Given the description of an element on the screen output the (x, y) to click on. 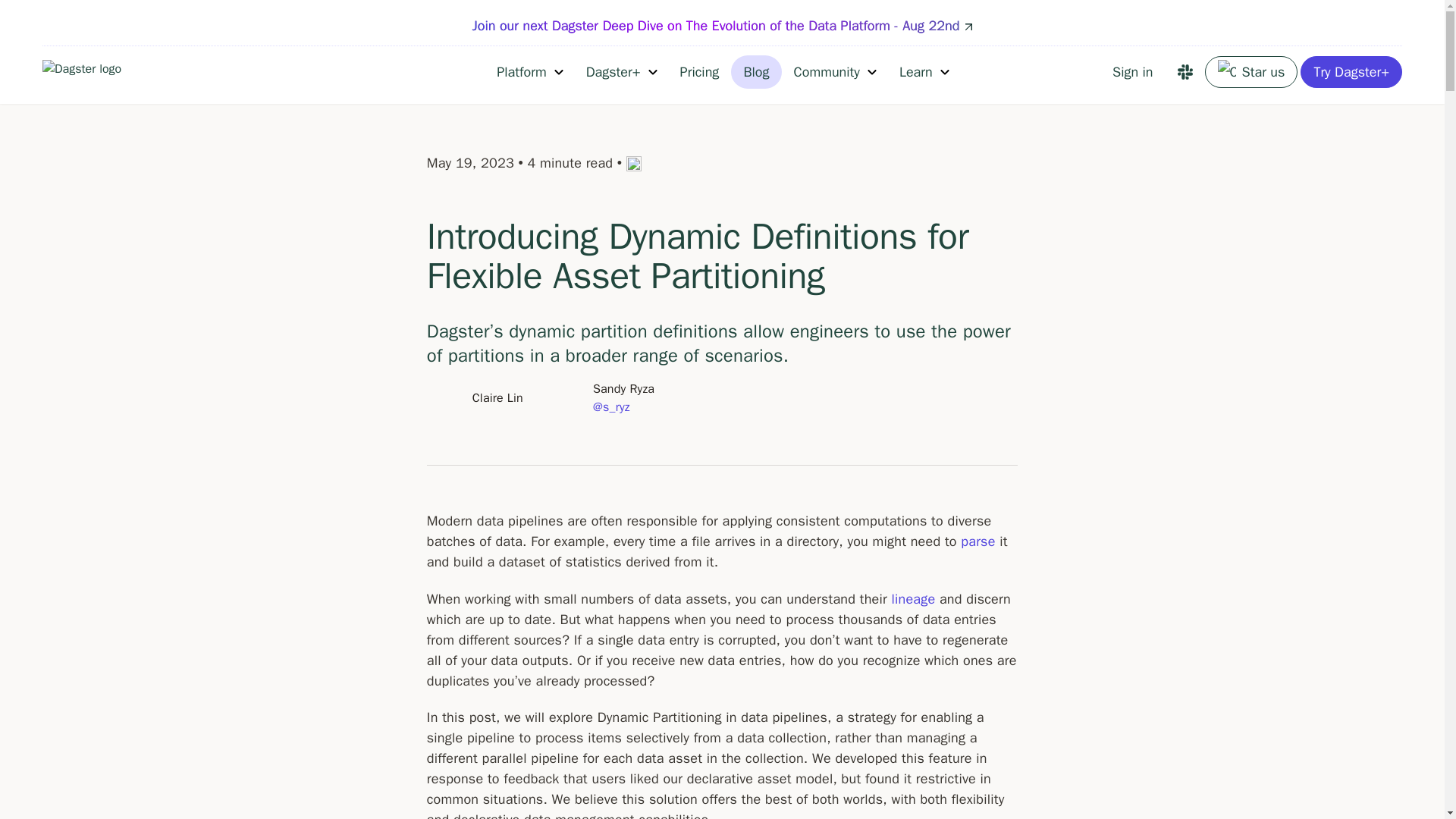
Sign in (1133, 71)
Pricing (700, 71)
Community (833, 71)
Platform (528, 71)
Blog (755, 71)
parse (977, 541)
Star us (1251, 71)
lineage (913, 598)
Learn (922, 71)
